Given the description of an element on the screen output the (x, y) to click on. 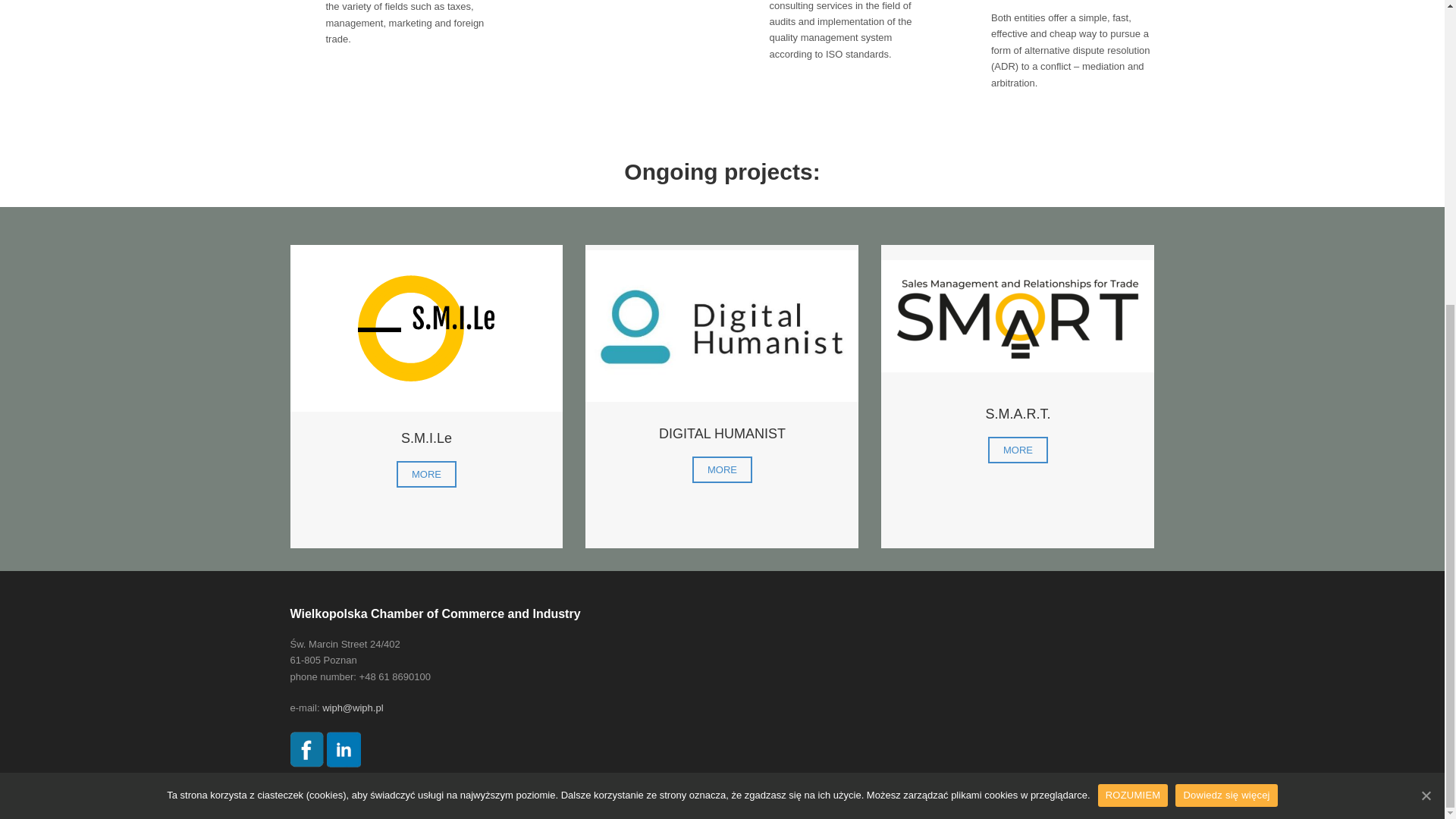
ROZUMIEM (1133, 316)
MORE (1018, 449)
WCAM (426, 474)
MORE (426, 474)
MORE (722, 469)
